Given the description of an element on the screen output the (x, y) to click on. 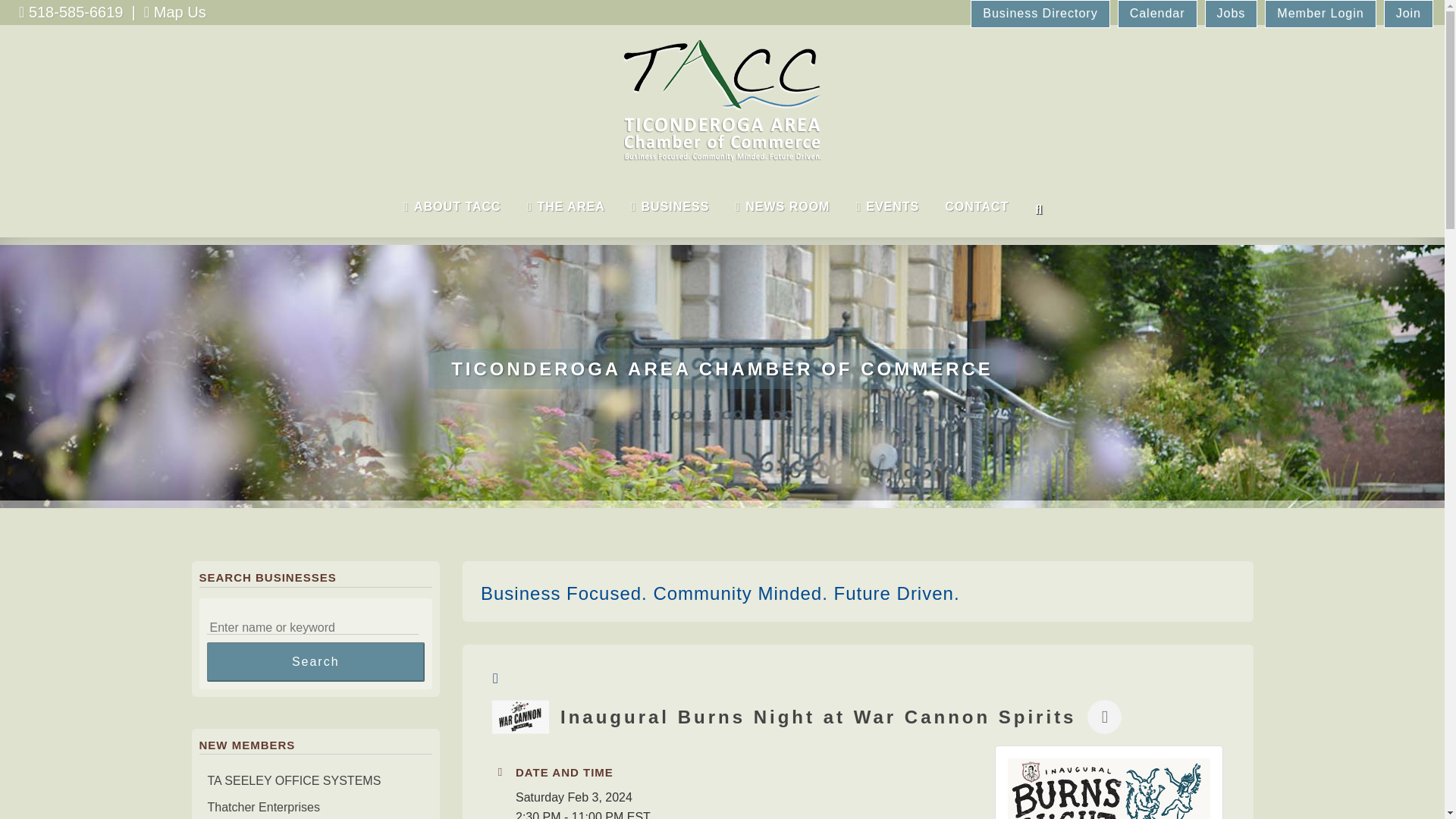
ABOUT TACC (451, 206)
Map Us (180, 12)
Calendar (1151, 12)
THE AREA (565, 206)
Join (1402, 12)
Member Login (1313, 12)
Search (315, 661)
518-585-6619 (76, 12)
Hague Volunteer Fire Department (315, 754)
Search (315, 661)
TA SEELEY OFFICE SYSTEMS (315, 781)
Thatcher Enterprises (315, 807)
Business Directory (1034, 12)
Thatcher Enterprises (315, 807)
TA SEELEY OFFICE SYSTEMS (315, 781)
